Given the description of an element on the screen output the (x, y) to click on. 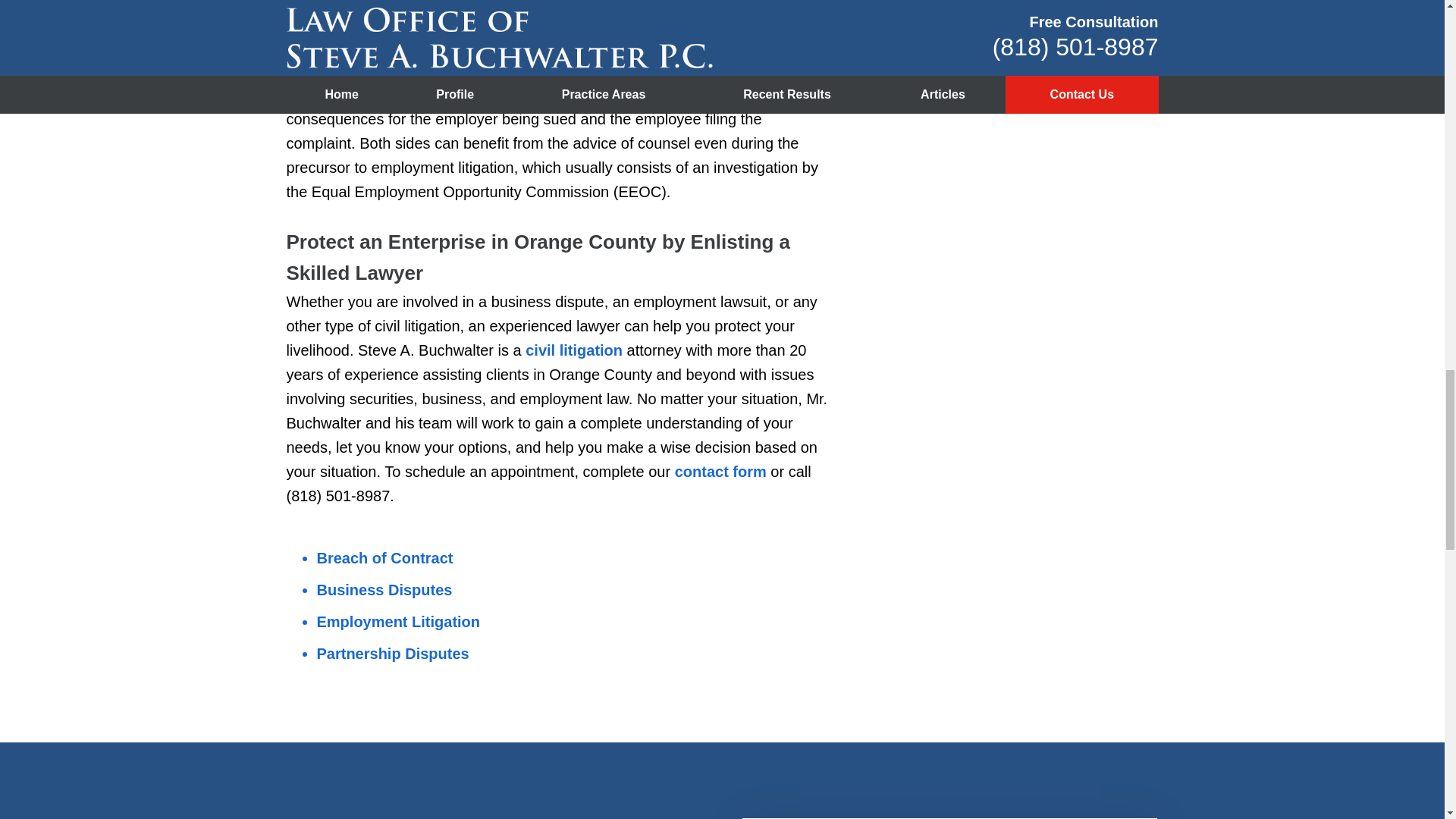
Partnership Disputes (392, 653)
civil litigation (574, 350)
contact form (721, 471)
Employment Litigation (398, 621)
Breach of Contract (384, 557)
Business Disputes (384, 589)
